Given the description of an element on the screen output the (x, y) to click on. 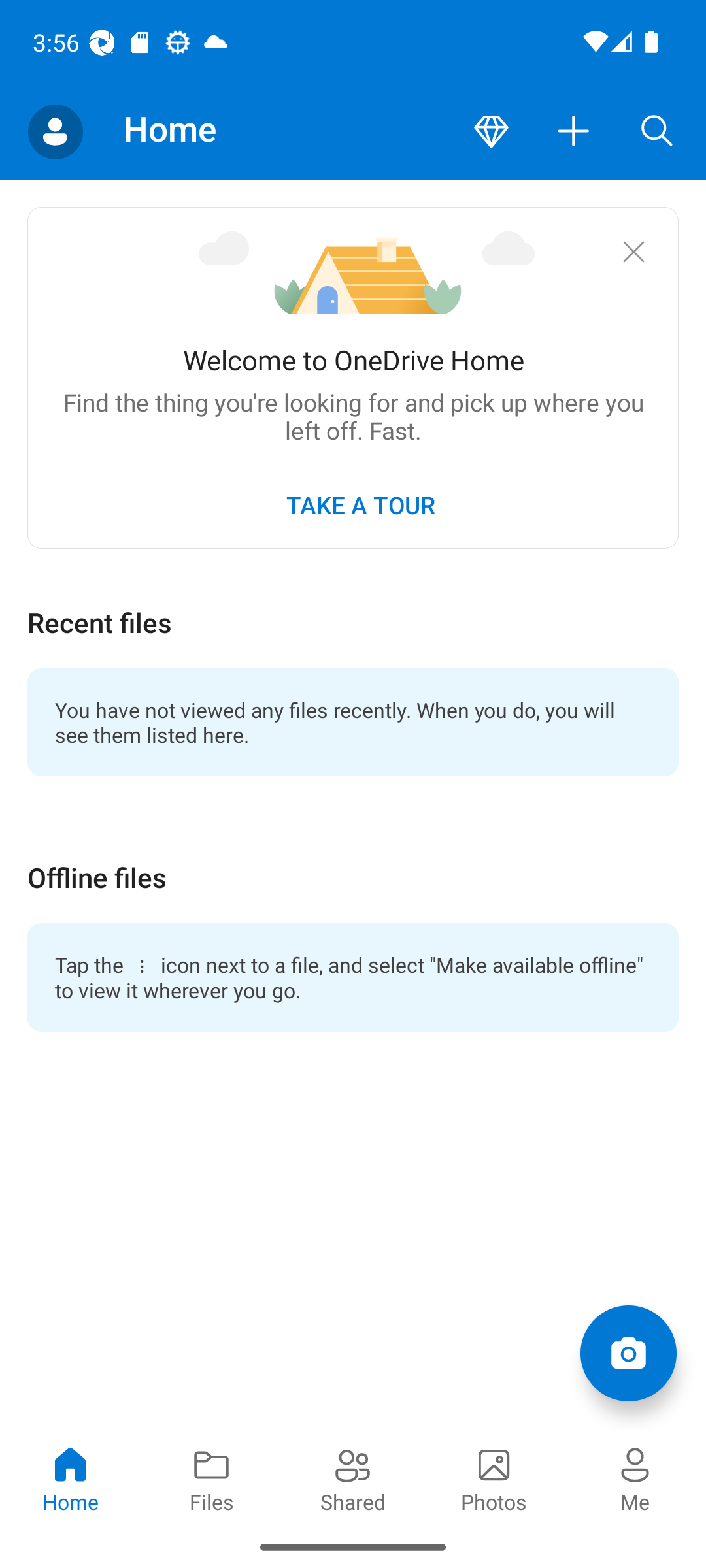
Account switcher (55, 131)
Premium button (491, 131)
More actions button (574, 131)
Search button (656, 131)
Close (633, 251)
TAKE A TOUR (359, 503)
Scan (628, 1352)
Files pivot Files (211, 1478)
Shared pivot Shared (352, 1478)
Photos pivot Photos (493, 1478)
Me pivot Me (635, 1478)
